Given the description of an element on the screen output the (x, y) to click on. 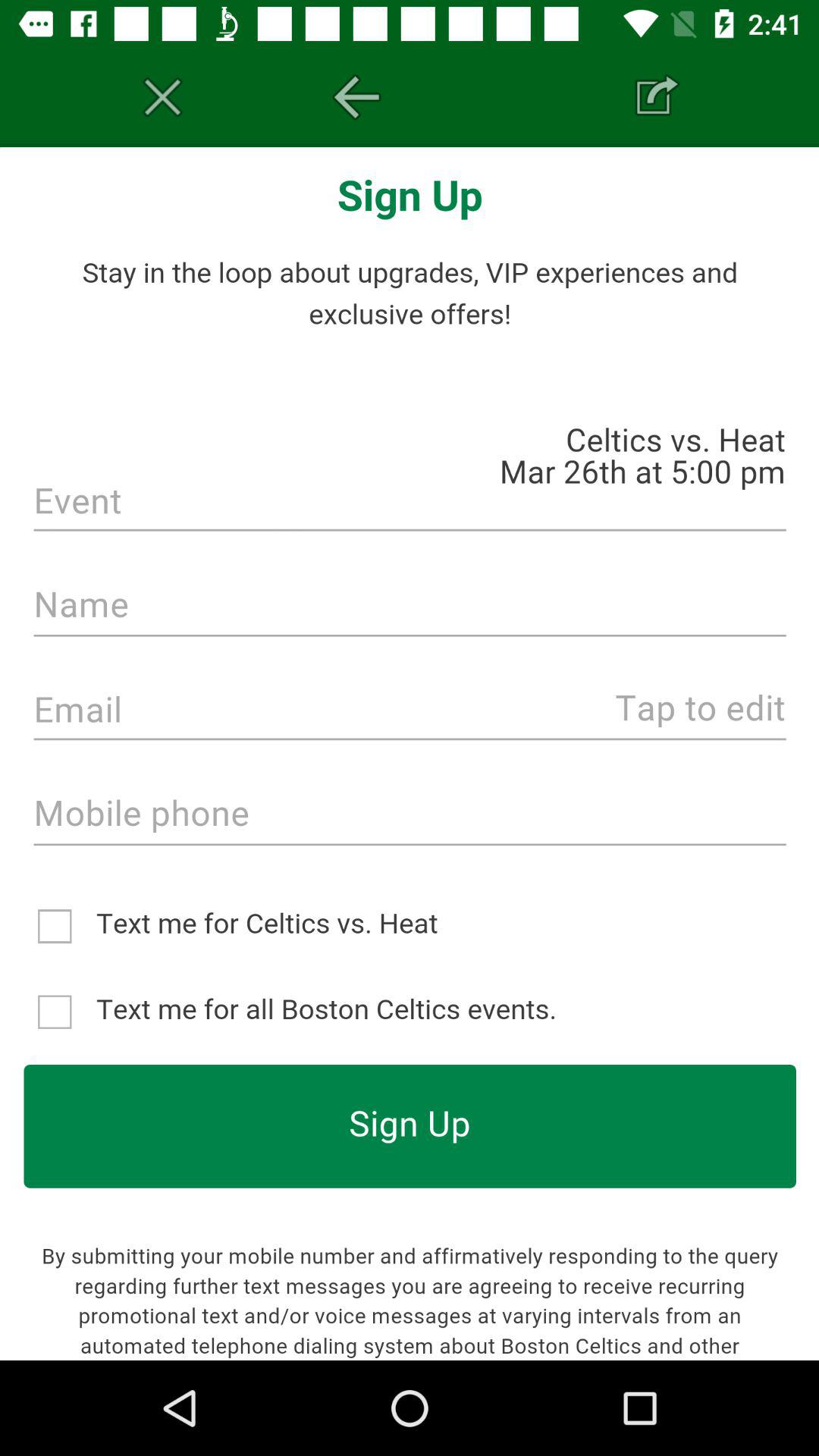
cancel sign up (162, 97)
